Given the description of an element on the screen output the (x, y) to click on. 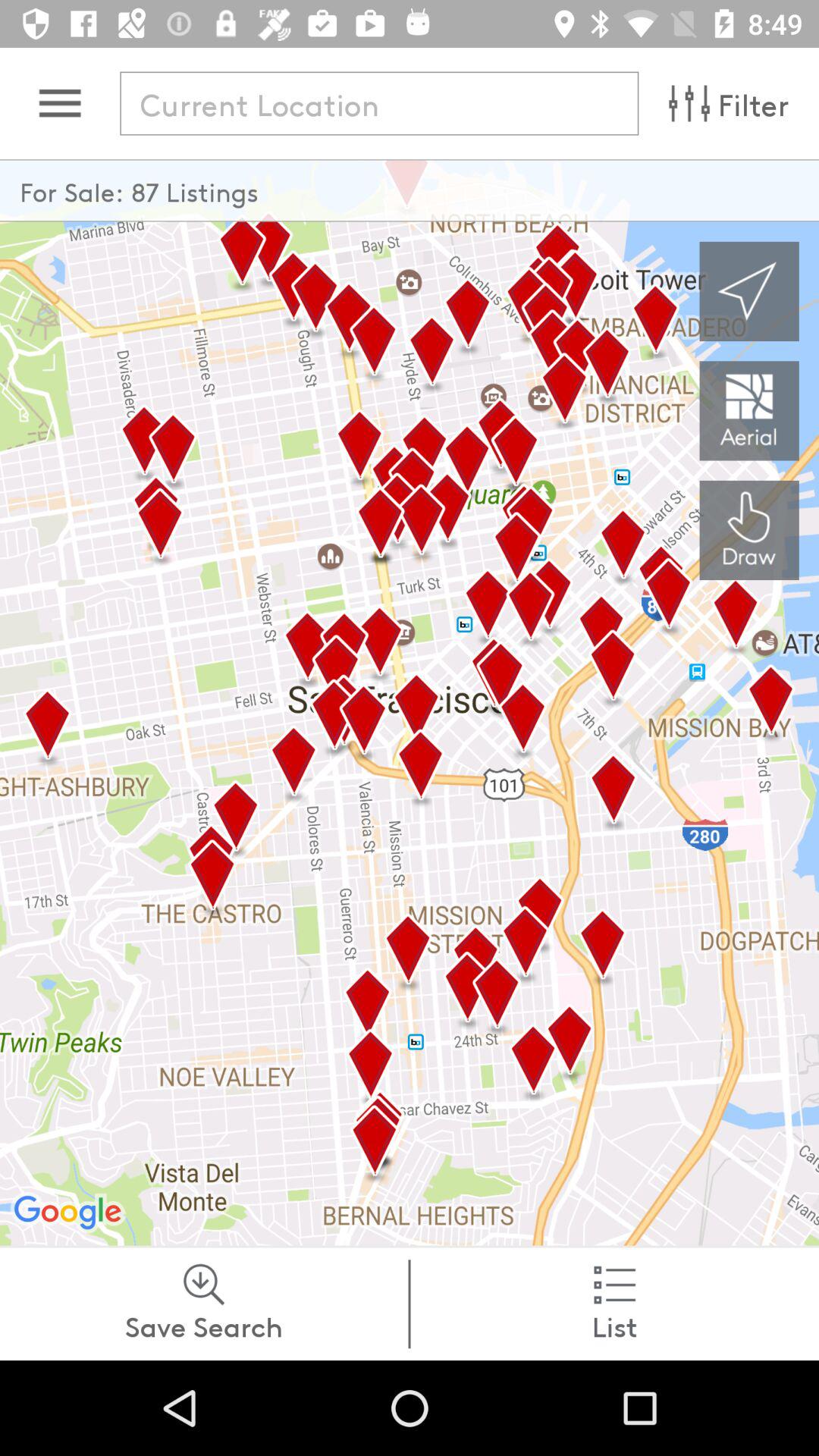
find location (379, 103)
